Given the description of an element on the screen output the (x, y) to click on. 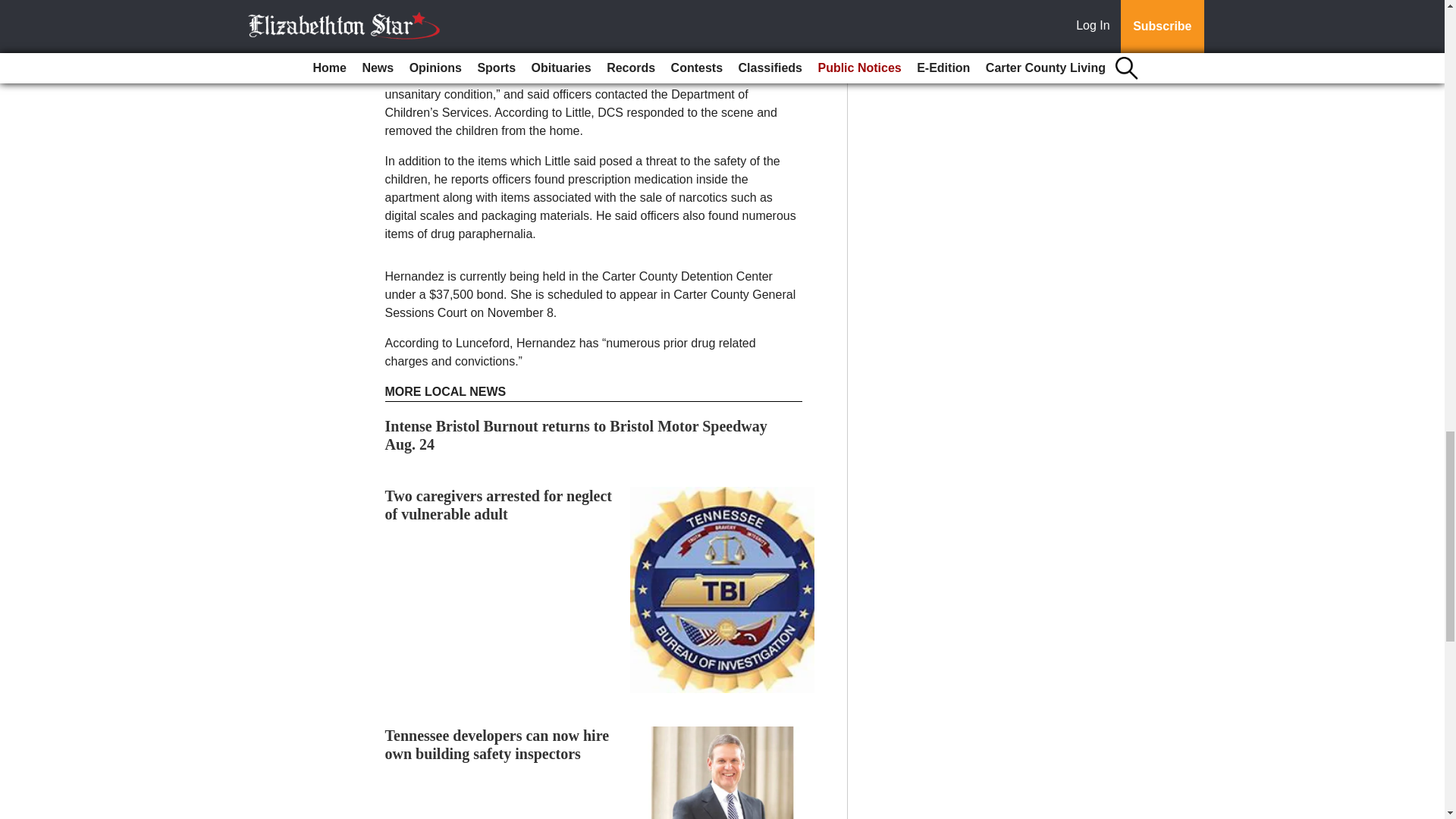
Two caregivers arrested for neglect of vulnerable adult (498, 504)
Two caregivers arrested for neglect of vulnerable adult (498, 504)
